Given the description of an element on the screen output the (x, y) to click on. 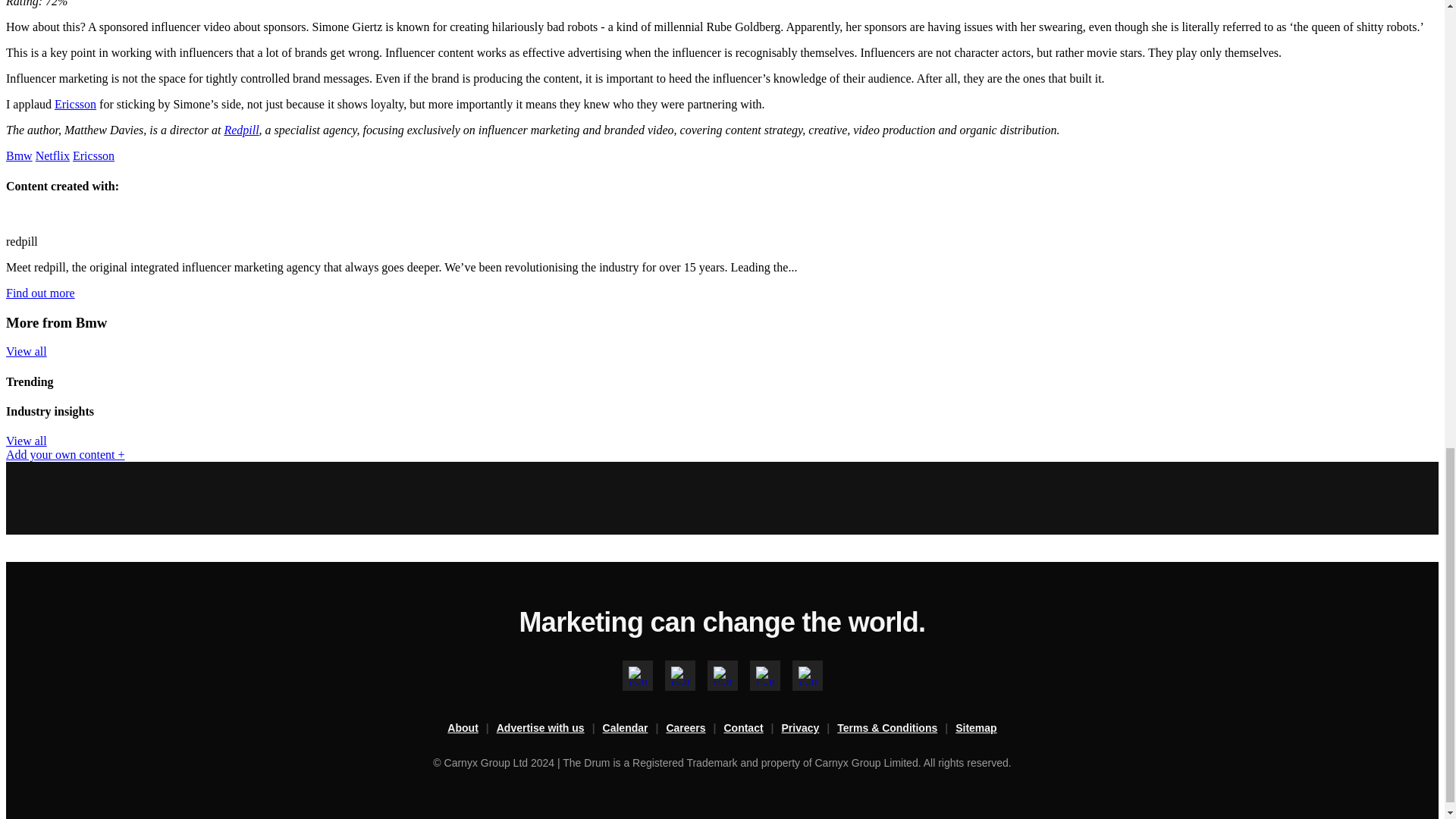
Redpill (241, 129)
Ericsson (93, 155)
Ericsson (75, 103)
Bmw (18, 155)
Find out more (40, 292)
View all (25, 350)
Netflix (51, 155)
View all (25, 440)
